Given the description of an element on the screen output the (x, y) to click on. 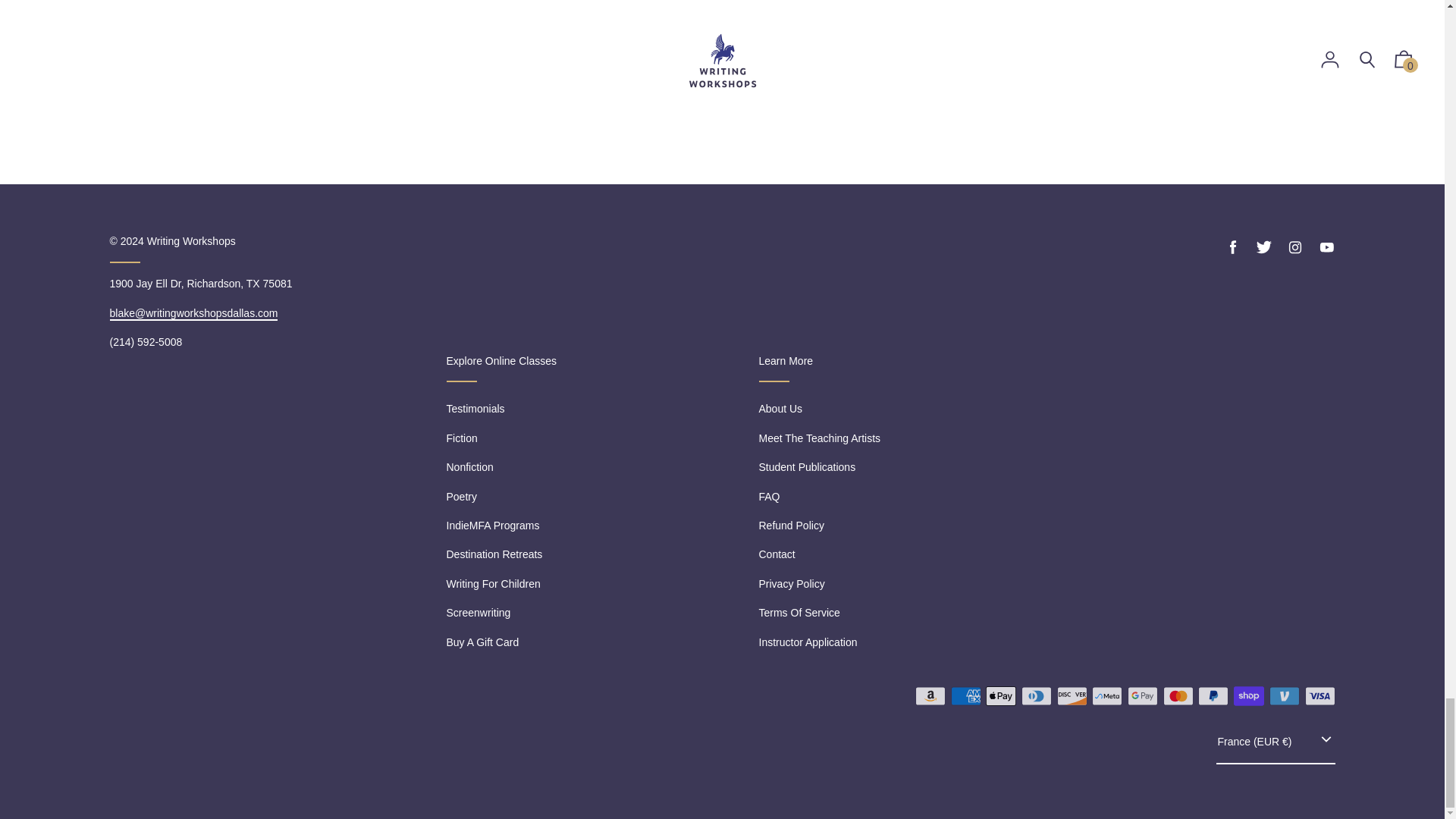
Discover (1072, 695)
Writing Workshops on Twitter (1263, 247)
Writing Workshops on Instagram (1295, 247)
Mastercard (1178, 695)
Amazon (929, 695)
Shop Pay (1248, 695)
Apple Pay (1000, 695)
Visa (1319, 695)
Diners Club (1036, 695)
Writing Workshops on Facebook (1232, 247)
